Given the description of an element on the screen output the (x, y) to click on. 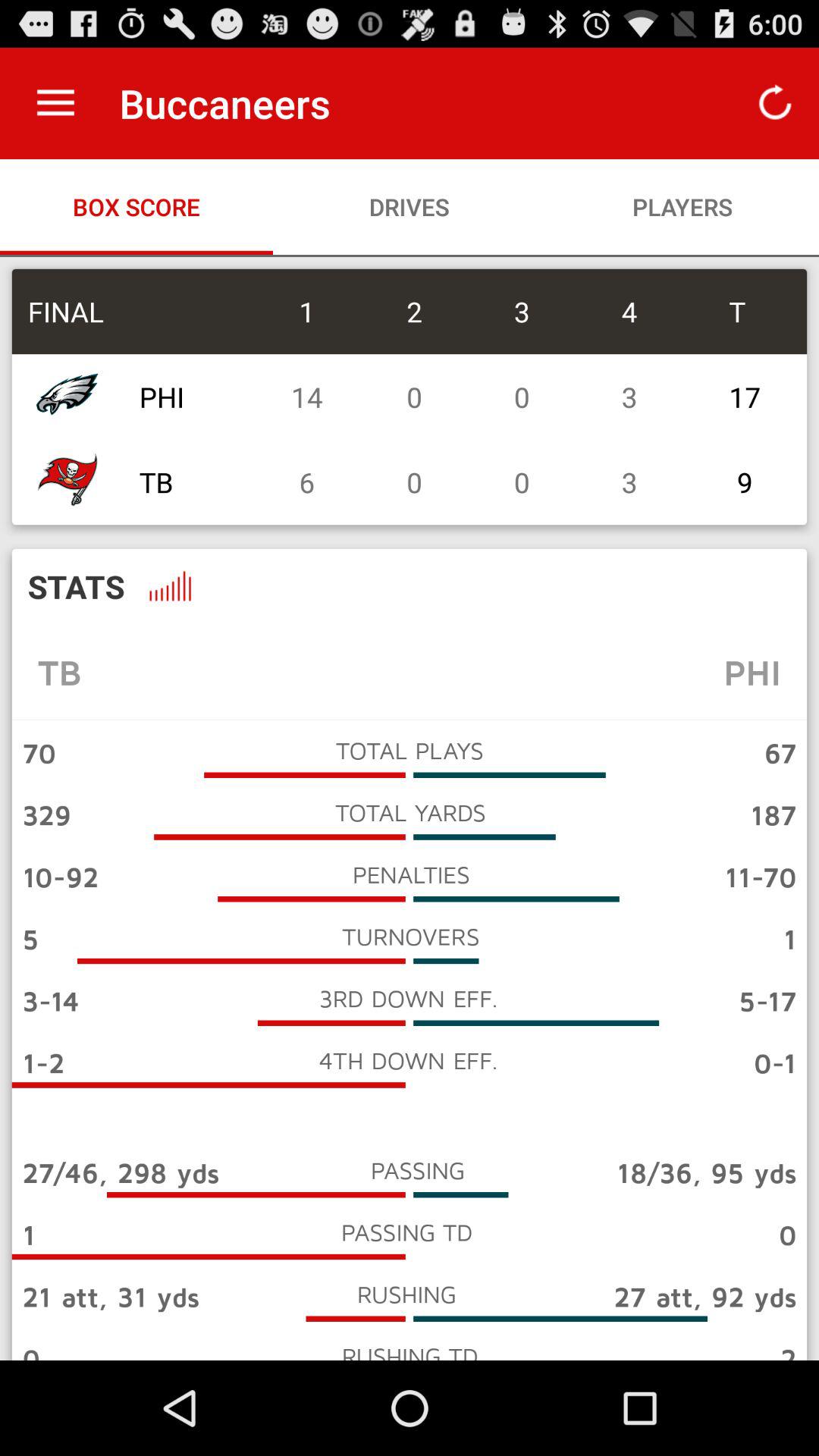
the red colored line below rushing (355, 1319)
